Given the description of an element on the screen output the (x, y) to click on. 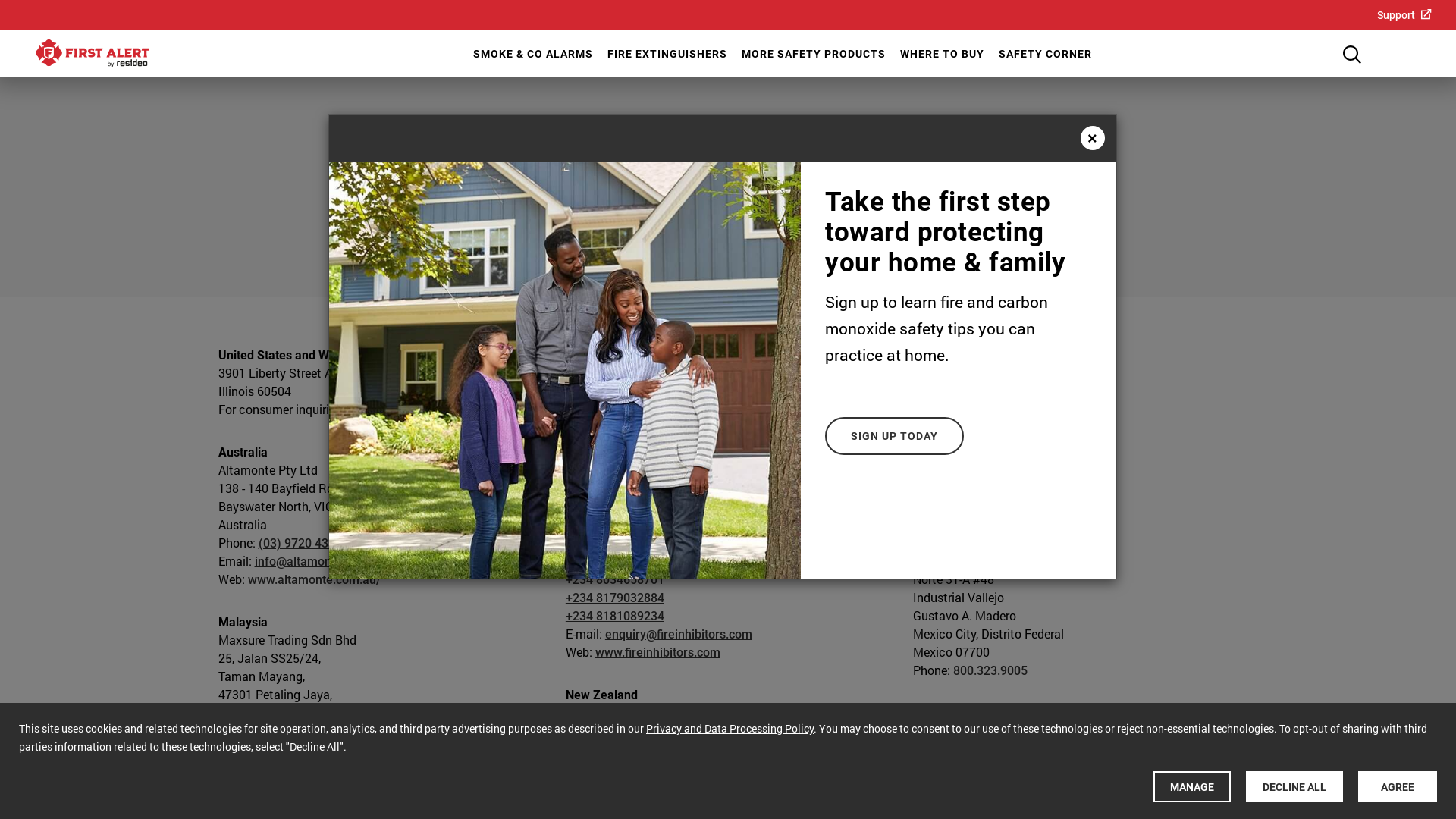
+234 8034658701 Element type: text (614, 578)
MORE SAFETY PRODUCTS Element type: text (811, 53)
FIRE EXTINGUISHERS Element type: text (666, 53)
enquiry@fireinhibitors.com Element type: text (678, 633)
Support Element type: text (1404, 13)
SAFETY CORNER Element type: text (1044, 53)
+64 9 2764071 Element type: text (627, 785)
+234 8179032884 Element type: text (962, 445)
Home Element type: text (92, 53)
Search Button Element type: text (1352, 54)
(021)23603399 Element type: text (647, 445)
www.locksnmore.com.my Element type: text (316, 748)
http://www.ptgki.com Element type: text (652, 463)
Privacy and Data Processing Policy Element type: text (729, 728)
www.fireinhibitors.com Element type: text (1004, 500)
www.fireinhibitors.com Element type: text (657, 651)
SMOKE & CO ALARMS Element type: text (531, 53)
AGREE Element type: text (1397, 786)
+234 8034658701 Element type: text (962, 427)
+234 8181089234 Element type: text (962, 463)
SIGN UP TODAY Element type: text (894, 436)
+234 8181089234 Element type: text (614, 615)
attached PDF Element type: text (998, 214)
+64 9 2761798 Element type: text (631, 803)
info@altamonte.com.au Element type: text (319, 560)
DECLINE ALL Element type: text (1294, 786)
support.firstalert.com Element type: text (430, 409)
+6017 351 4710 Element type: text (301, 730)
www.altamonte.com.au/ Element type: text (313, 578)
(03) 9720 4333 Element type: text (299, 542)
800.323.9005 Element type: text (990, 669)
WHERE TO BUY Element type: text (940, 53)
+234 8179032884 Element type: text (614, 597)
enquiry@fireinhibitors.com Element type: text (1025, 481)
MANAGE Element type: text (1191, 786)
